Given the description of an element on the screen output the (x, y) to click on. 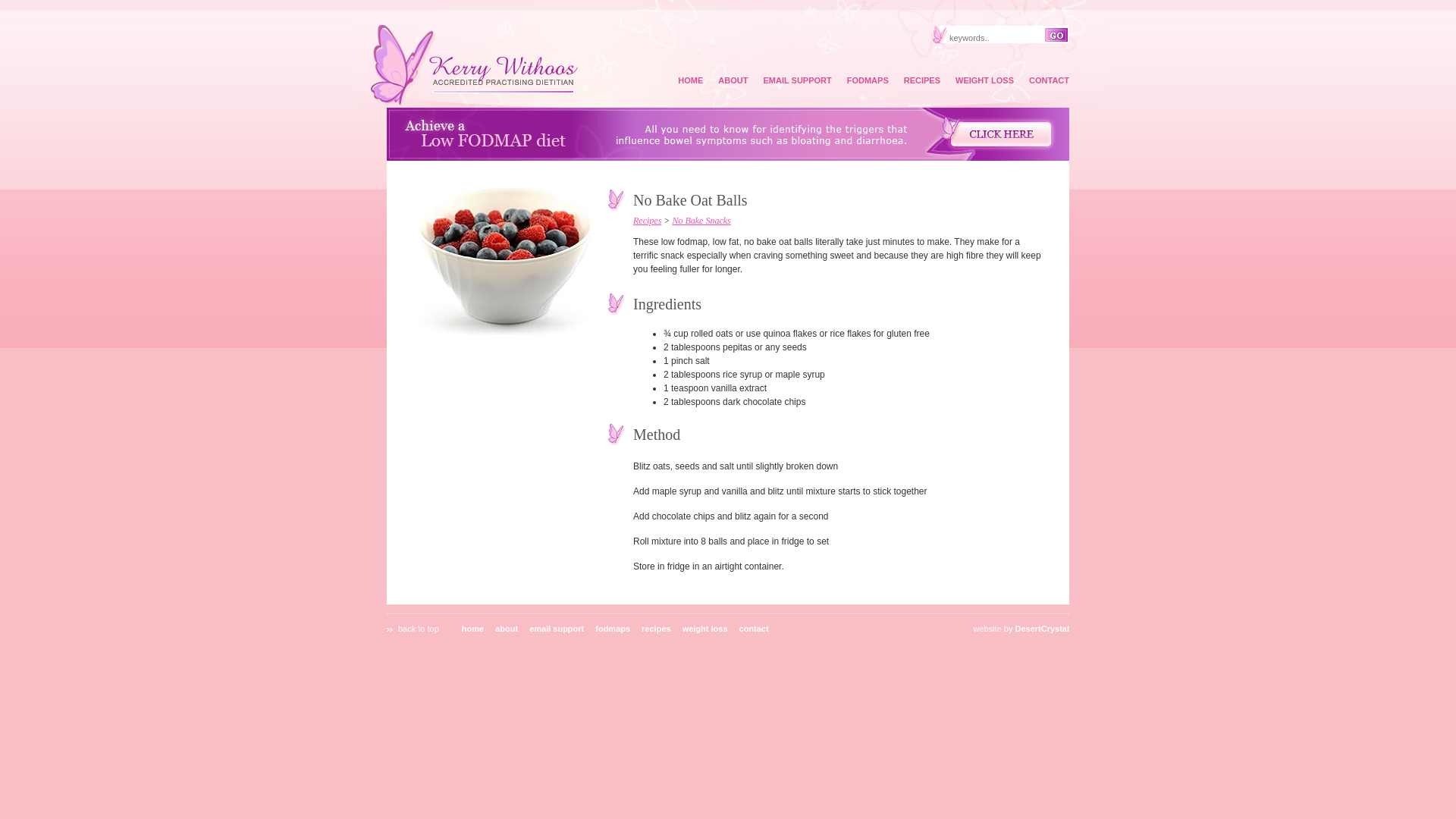
Recipes Element type: text (647, 220)
recipes Element type: text (656, 628)
contact Element type: text (753, 628)
RECIPES Element type: text (921, 79)
weight loss Element type: text (705, 628)
email support Element type: text (556, 628)
FODMAPS Element type: text (867, 79)
about Element type: text (506, 628)
EMAIL SUPPORT Element type: text (796, 79)
HOME Element type: text (689, 79)
CONTACT Element type: text (1049, 79)
DesertCrystal Element type: text (1041, 628)
back to top Element type: text (418, 628)
ABOUT Element type: text (732, 79)
fodmaps Element type: text (612, 628)
No Bake Snacks Element type: text (700, 220)
home Element type: text (472, 628)
WEIGHT LOSS Element type: text (984, 79)
